Given the description of an element on the screen output the (x, y) to click on. 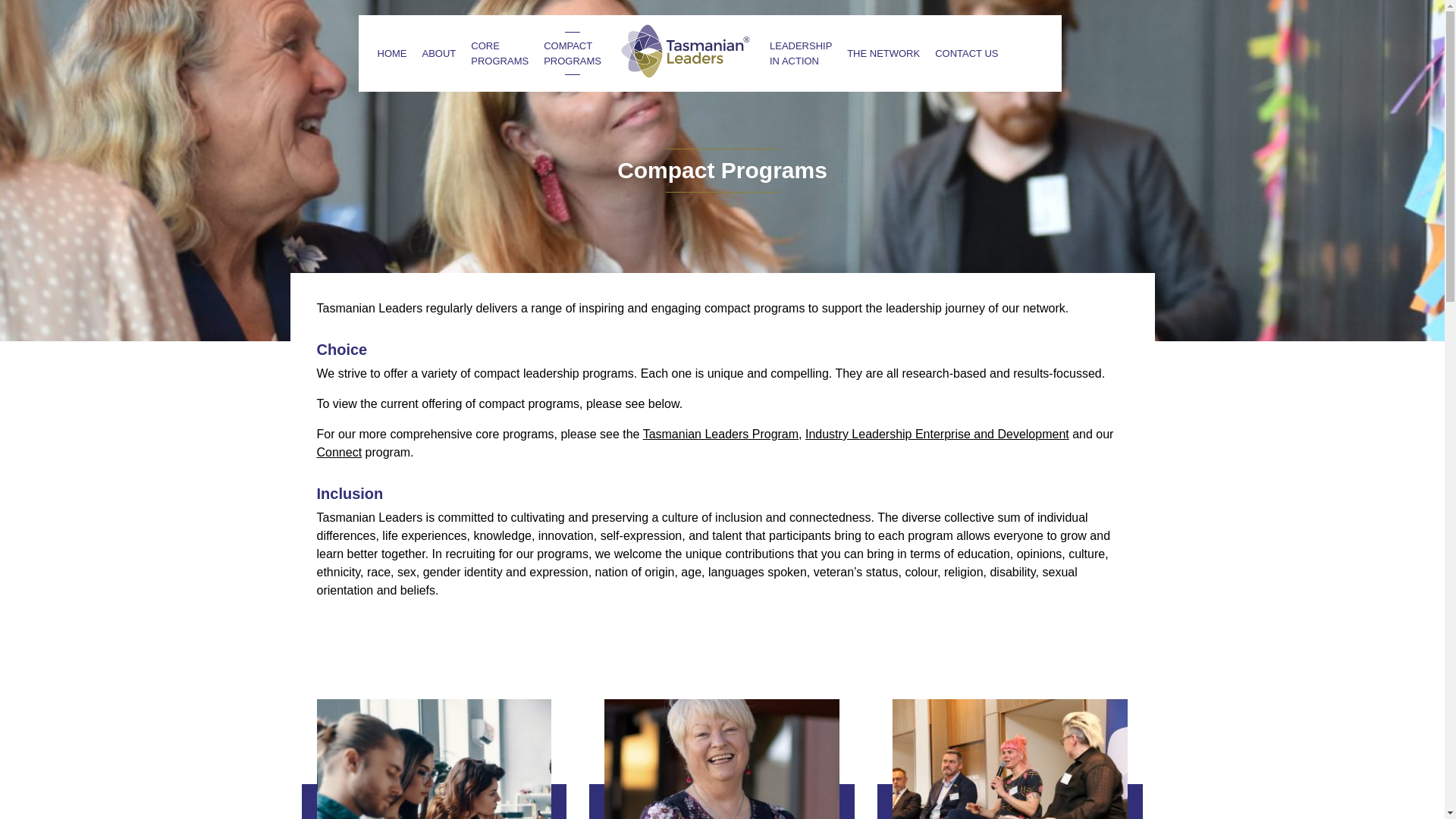
LEADERSHIP IN ACTION (800, 53)
CORE PROGRAMS (499, 53)
HOME (392, 53)
THE NETWORK (883, 53)
CONTACT US (965, 53)
Industry Leadership Enterprise and Development (936, 433)
Tasmanian Leaders Program (720, 433)
COMPACT PROGRAMS (572, 53)
ABOUT (438, 53)
Connect (339, 451)
